Given the description of an element on the screen output the (x, y) to click on. 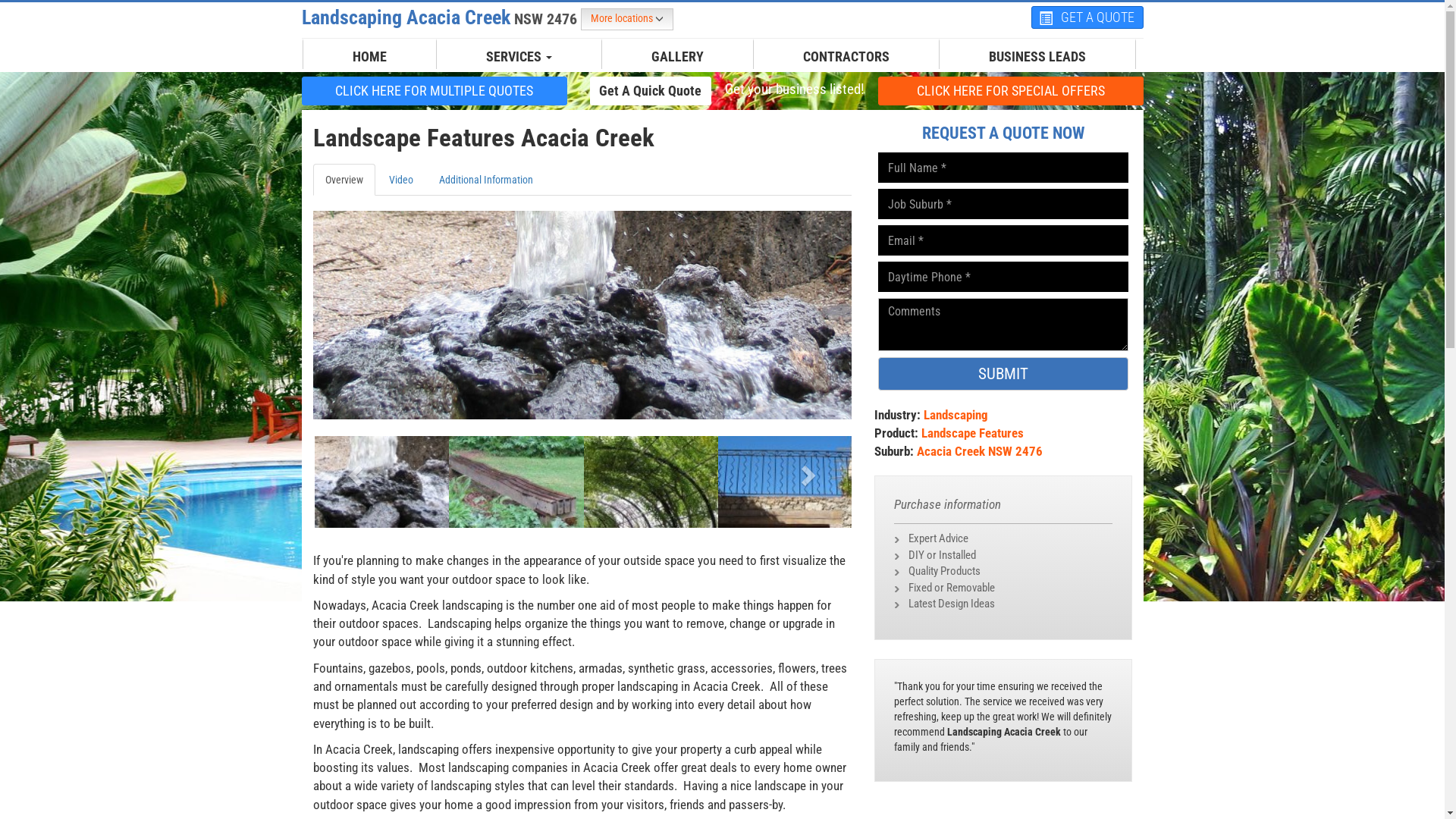
prev Element type: hover (352, 470)
CLICK HERE FOR MULTIPLE QUOTES Element type: text (434, 90)
CLICK HERE FOR SPECIAL OFFERS Element type: text (1010, 90)
HOME Element type: text (369, 56)
BUSINESS LEADS Element type: text (1036, 56)
SUBMIT Element type: text (1003, 373)
Additional Information Element type: text (485, 179)
CONTRACTORS Element type: text (845, 56)
SERVICES Element type: text (518, 56)
Get your business listed! Element type: text (793, 89)
CLICK HERE FOR SPECIAL OFFERS Element type: text (1010, 90)
GET A QUOTE Element type: text (1087, 17)
More locations Element type: text (626, 19)
Get A Quick Quote Element type: text (650, 90)
Overview Element type: text (343, 179)
Landscaping Acacia Creek NSW 2476 Element type: text (440, 17)
GALLERY Element type: text (677, 56)
CLICK HERE FOR MULTIPLE QUOTES Element type: text (434, 90)
Video Element type: text (400, 179)
Get A Quick Quote Element type: text (650, 90)
